Given the description of an element on the screen output the (x, y) to click on. 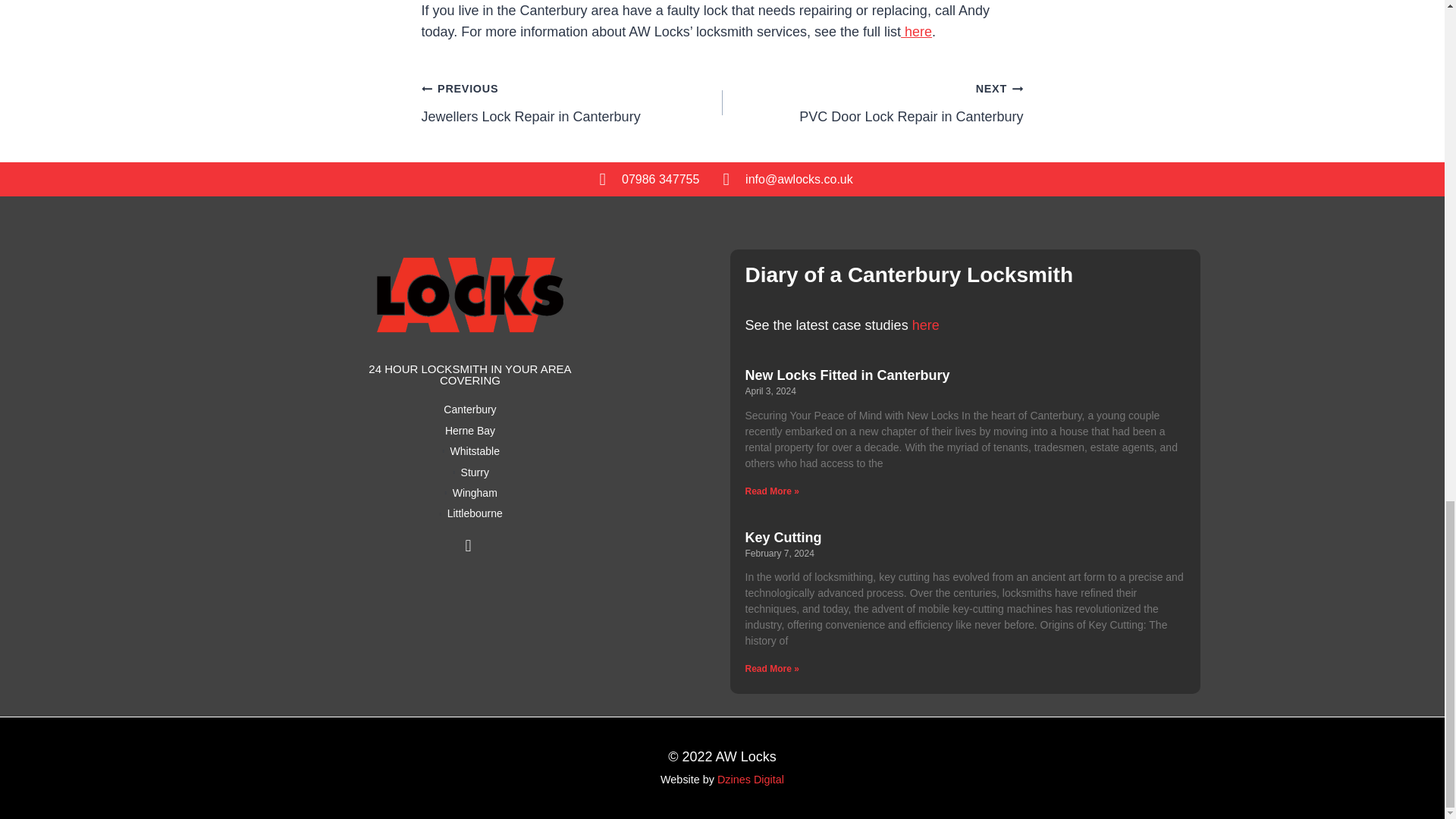
New Locks Fitted in Canterbury (846, 375)
here (916, 31)
here (923, 324)
Dzines Digital (750, 779)
Canterbury (469, 409)
Key Cutting (872, 101)
